Given the description of an element on the screen output the (x, y) to click on. 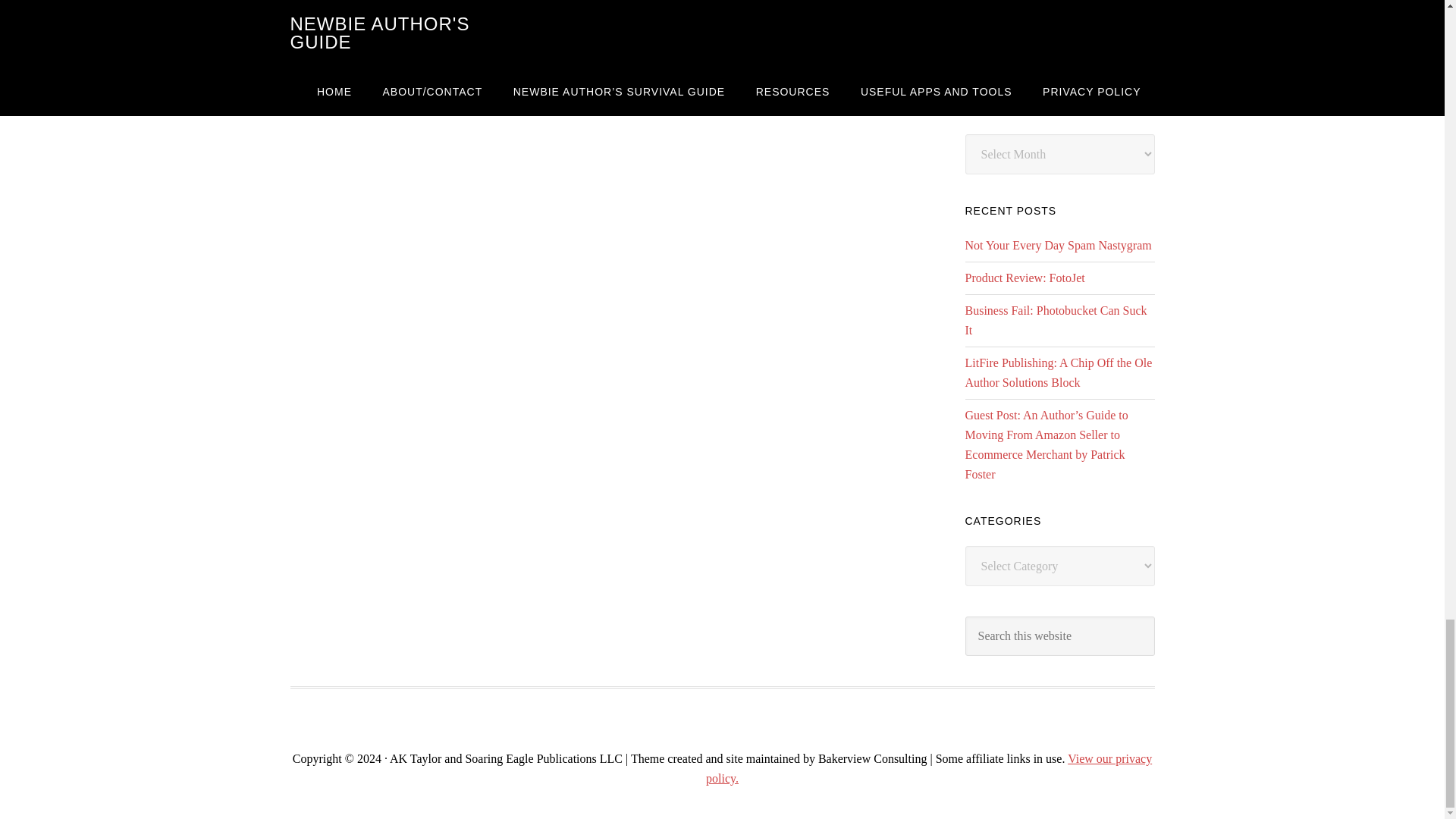
Product Review: FotoJet (1023, 277)
Not Your Every Day Spam Nastygram (1057, 245)
Business Fail: Photobucket Can Suck It (1055, 319)
